Given the description of an element on the screen output the (x, y) to click on. 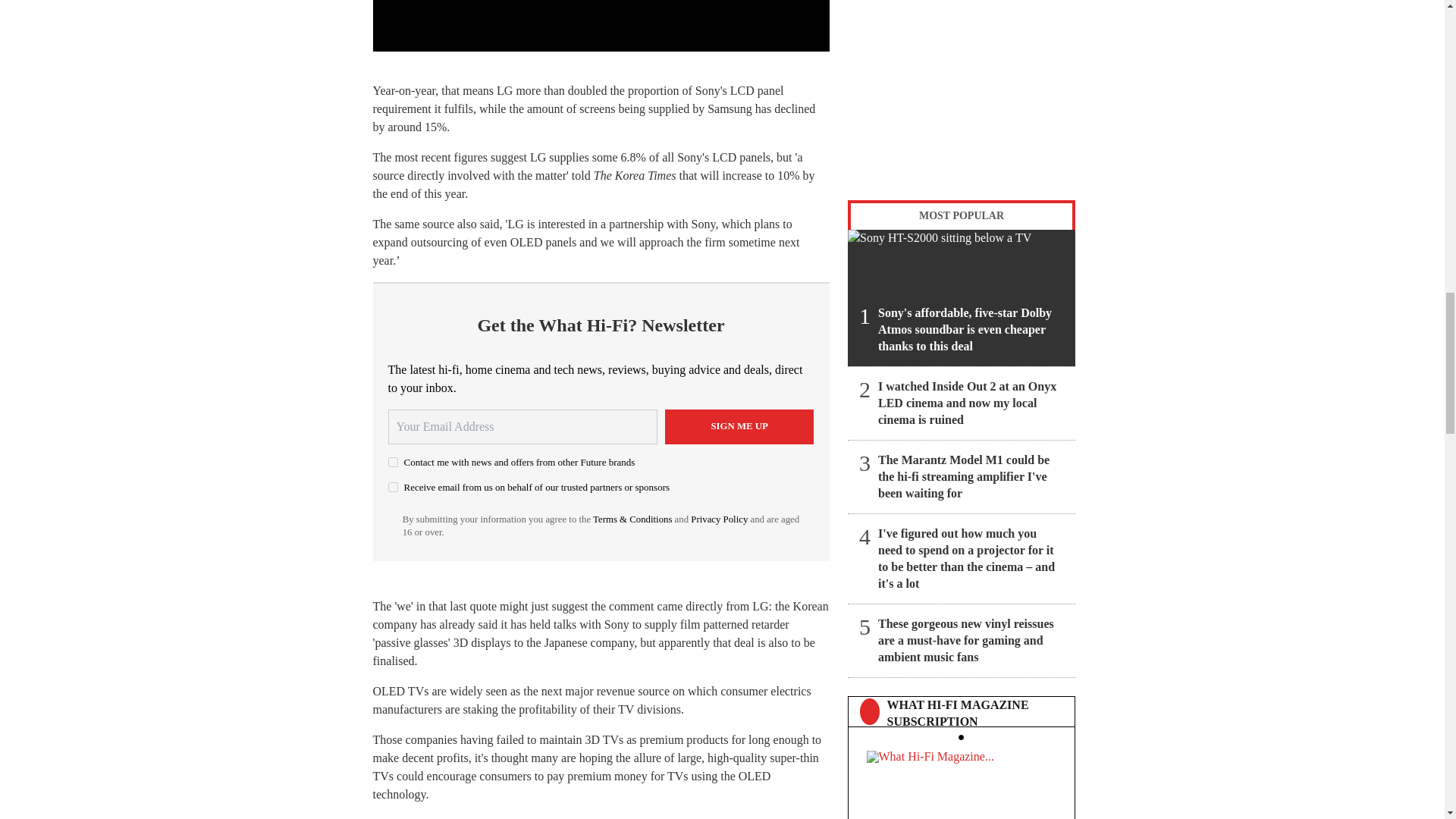
on (392, 487)
What Hi-Fi Magazine... (960, 780)
Sign me up (739, 426)
on (392, 461)
